Given the description of an element on the screen output the (x, y) to click on. 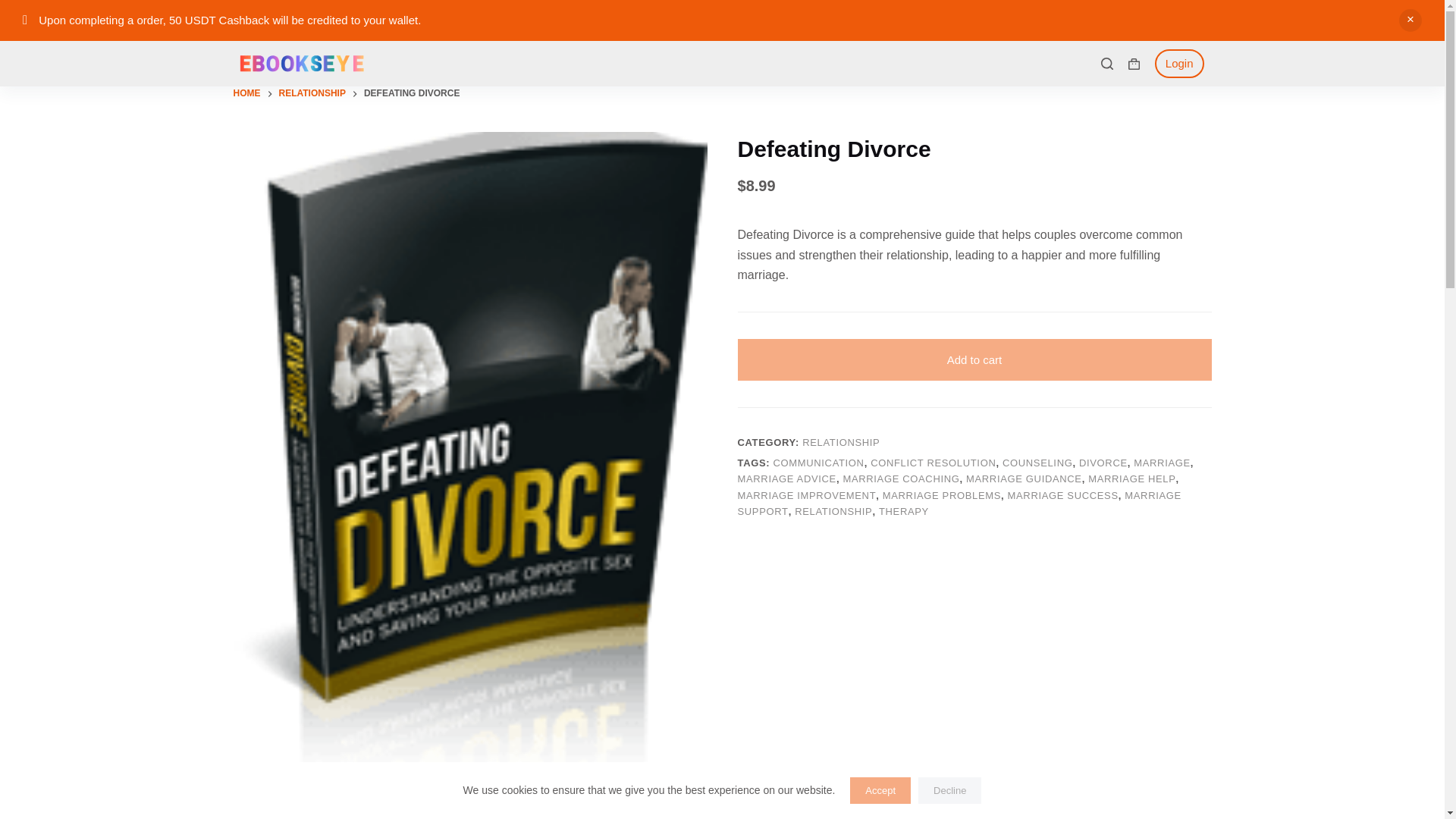
COUNSELING (1037, 462)
MARRIAGE SUCCESS (1062, 494)
DESCRIPTION (680, 814)
MARRIAGE COACHING (901, 478)
DIVORCE (1102, 462)
Login (1179, 63)
RELATIONSHIP (312, 93)
MARRIAGE (1162, 462)
Dismiss (1410, 20)
RELATIONSHIP (833, 511)
Decline (949, 790)
MARRIAGE IMPROVEMENT (806, 494)
MARRIAGE HELP (1130, 478)
MARRIAGE GUIDANCE (1023, 478)
Skip to content (15, 7)
